Given the description of an element on the screen output the (x, y) to click on. 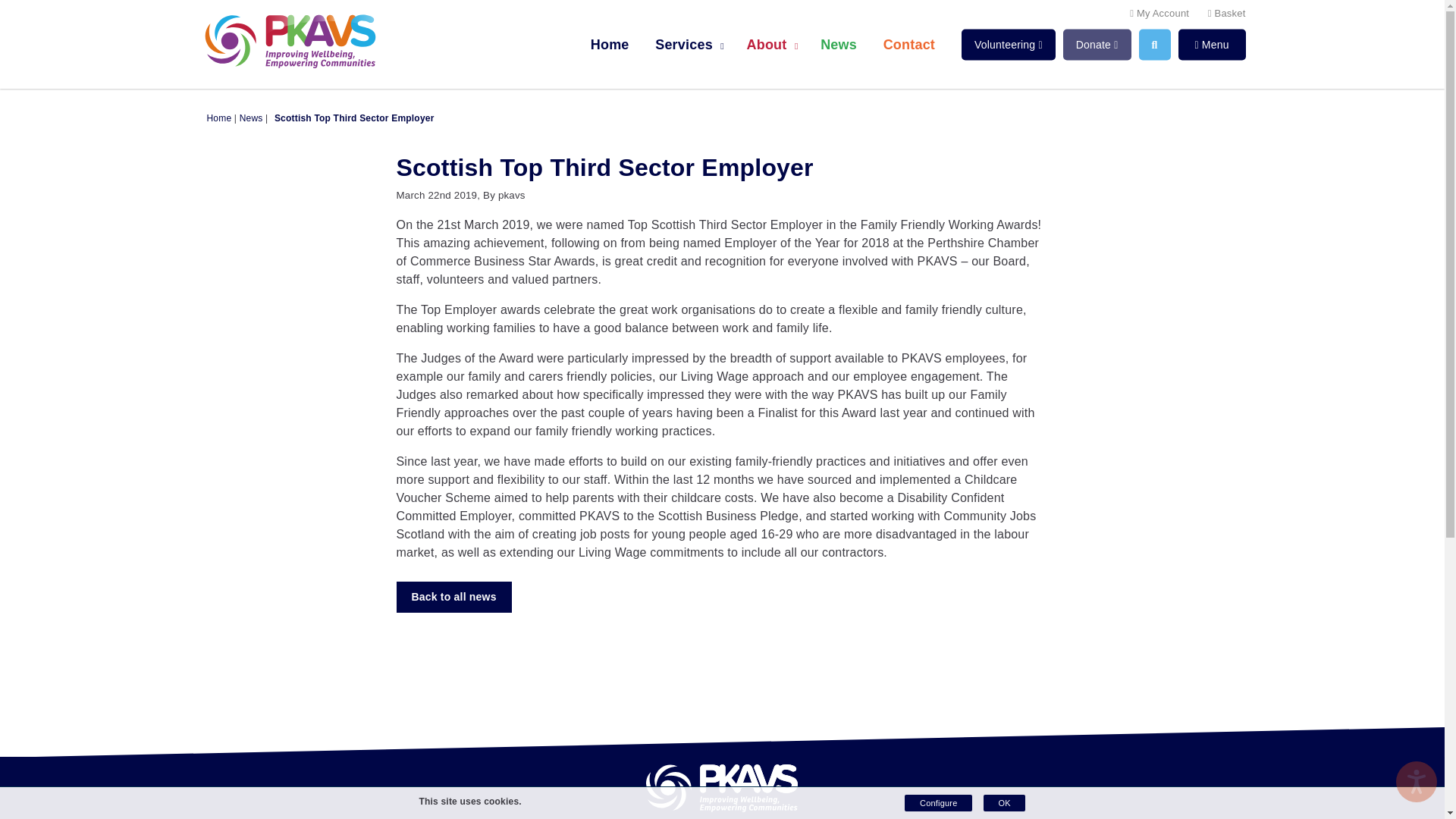
Volunteering (1007, 43)
Listen with the ReachDeck Toolbar (1416, 781)
Contact (909, 45)
PKAVS (289, 41)
News (838, 45)
Services (687, 45)
Basket (1226, 13)
Home (609, 45)
About (770, 45)
My Account (1159, 13)
Donate (1096, 43)
